Given the description of an element on the screen output the (x, y) to click on. 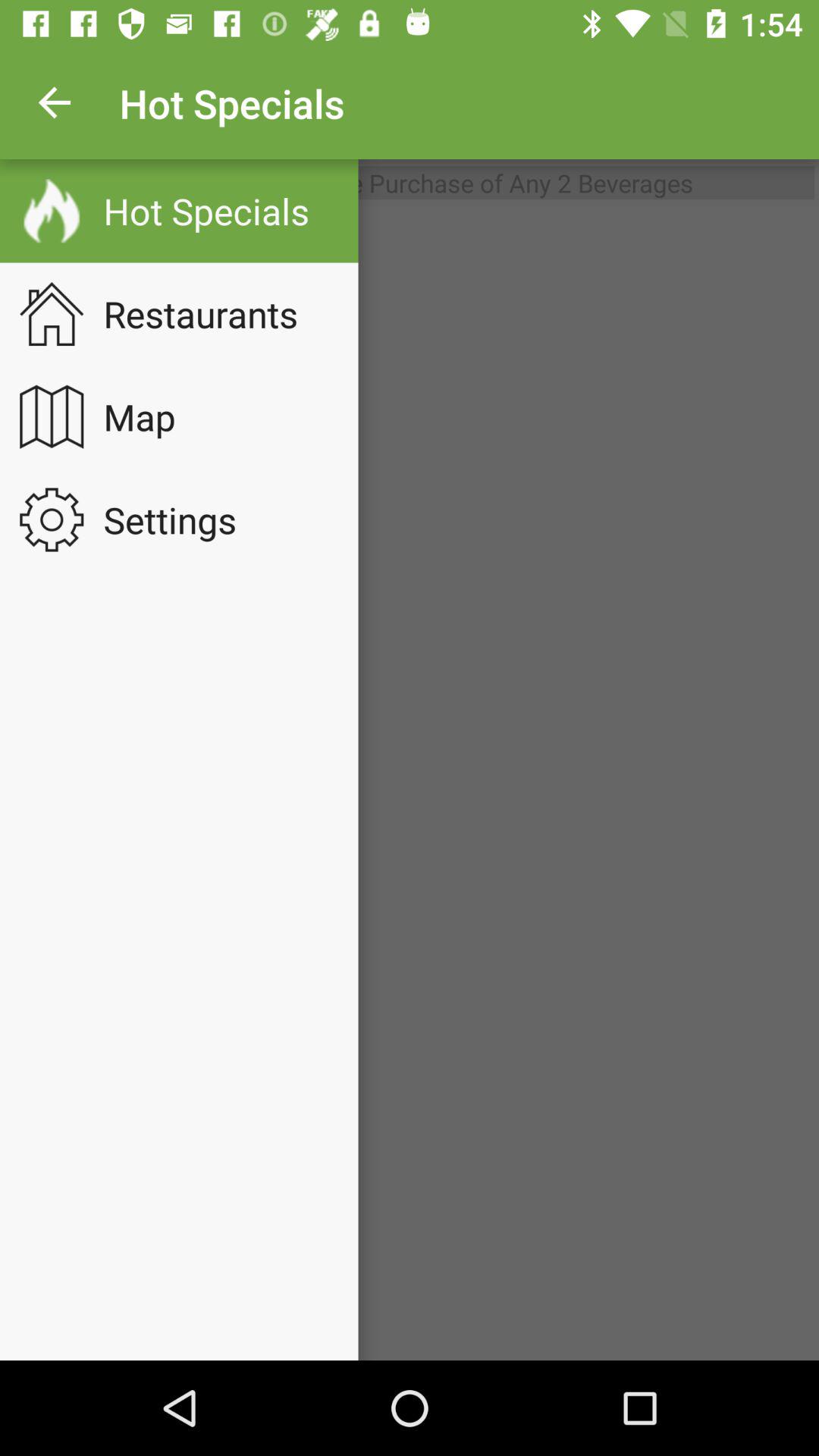
flip to settings (179, 519)
